Given the description of an element on the screen output the (x, y) to click on. 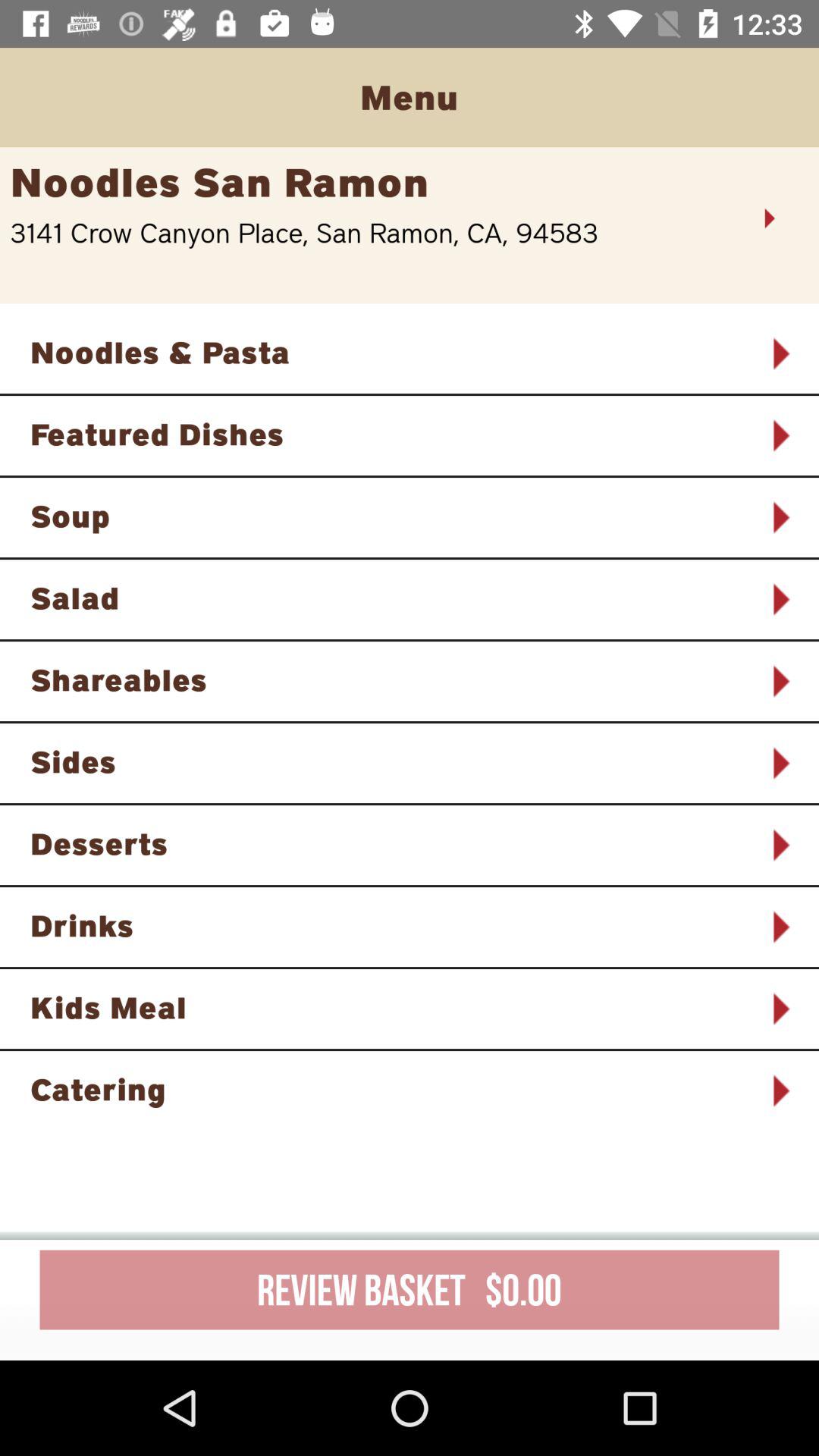
press the item to the right of featured dishes (779, 435)
